Given the description of an element on the screen output the (x, y) to click on. 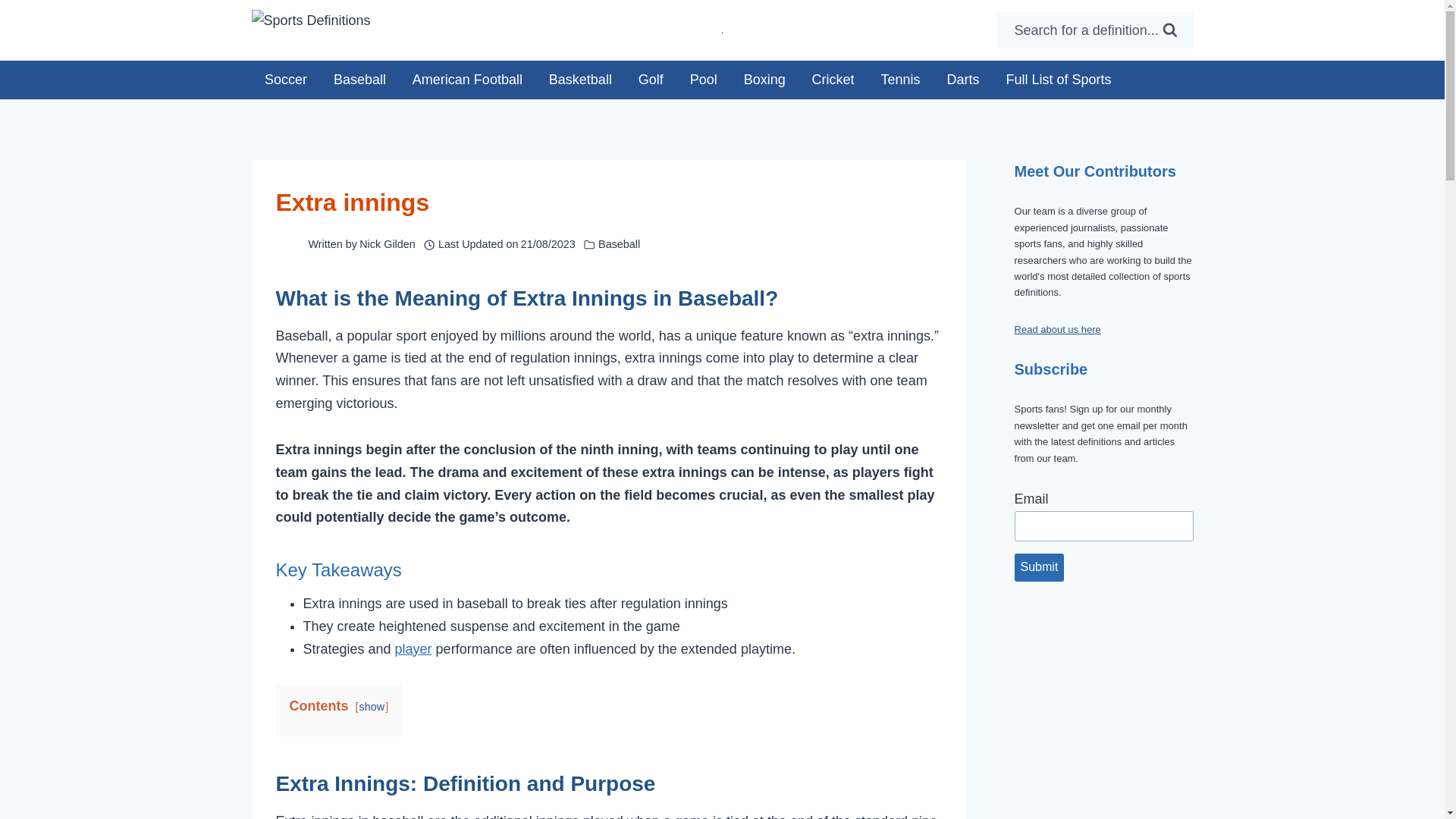
Nick Gilden (386, 244)
player (413, 648)
Cricket (832, 79)
show (372, 706)
Baseball (359, 79)
Golf (650, 79)
American Football (466, 79)
Soccer (285, 79)
Basketball (579, 79)
Pool (703, 79)
Boxing (763, 79)
Full List of Sports (1058, 79)
Search for a definition... (1094, 30)
Baseball (619, 244)
Darts (962, 79)
